Given the description of an element on the screen output the (x, y) to click on. 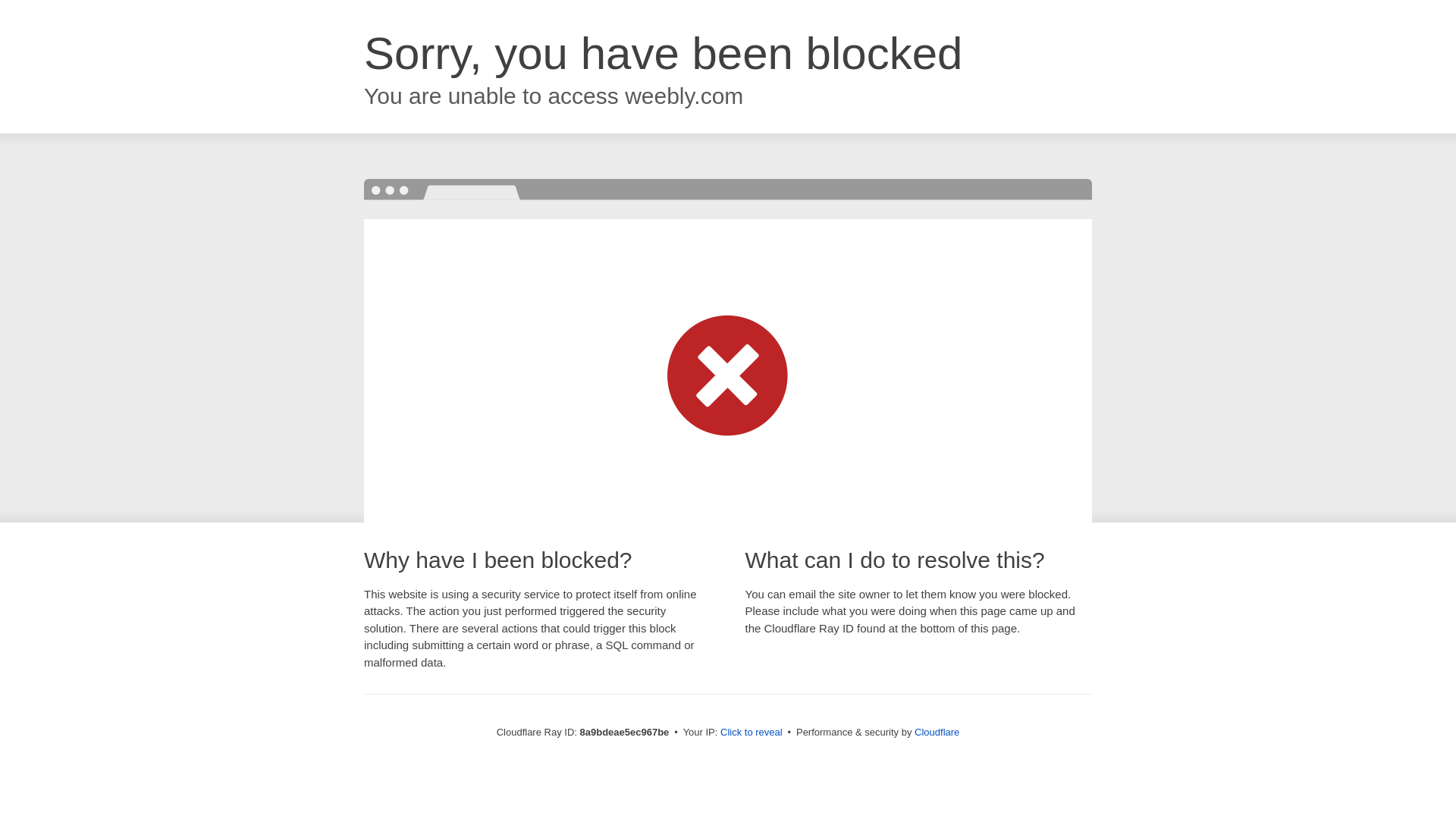
Click to reveal (751, 732)
Cloudflare (936, 731)
